Given the description of an element on the screen output the (x, y) to click on. 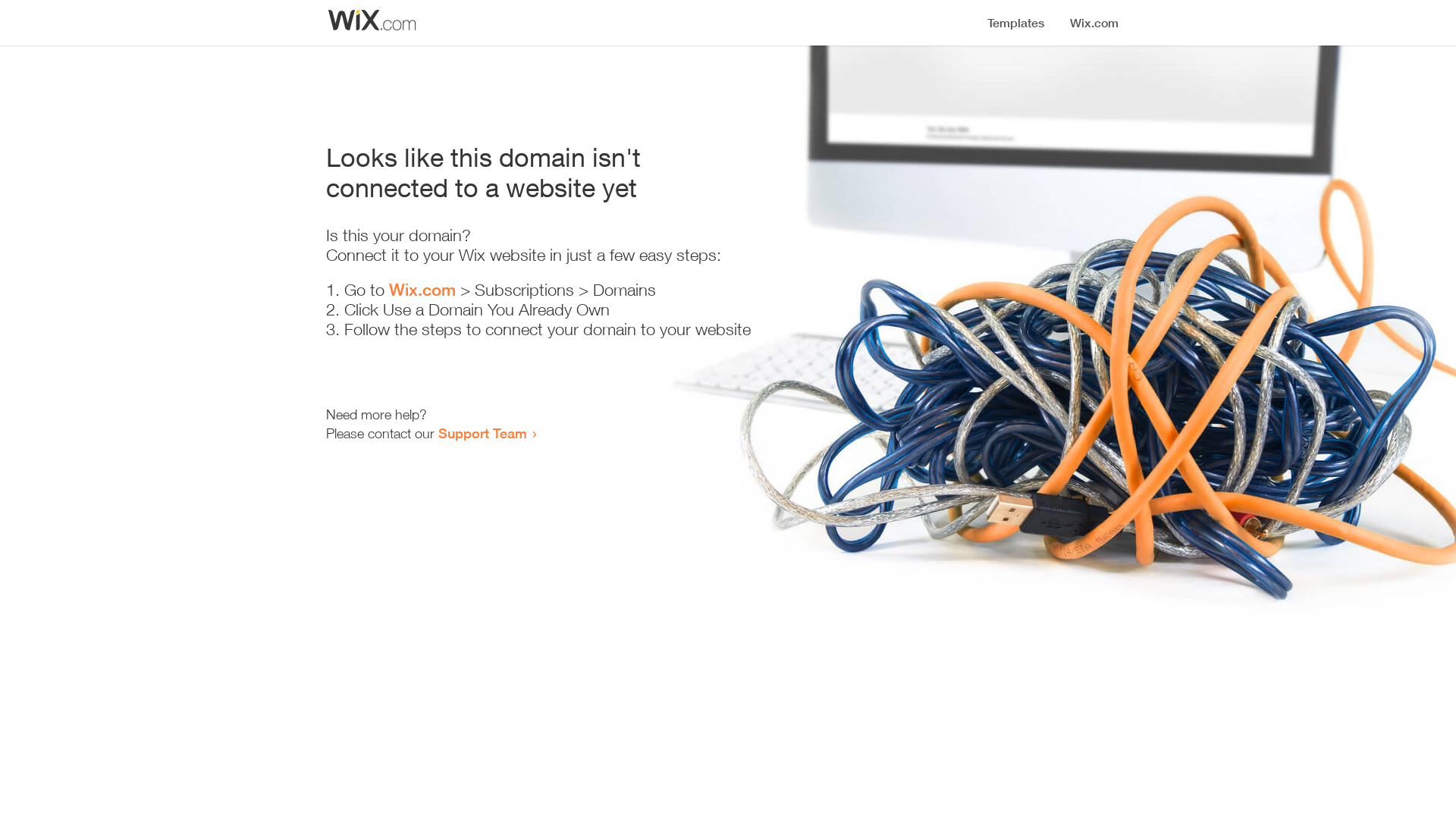
Support Team Element type: text (482, 432)
Wix.com Element type: text (422, 289)
